Given the description of an element on the screen output the (x, y) to click on. 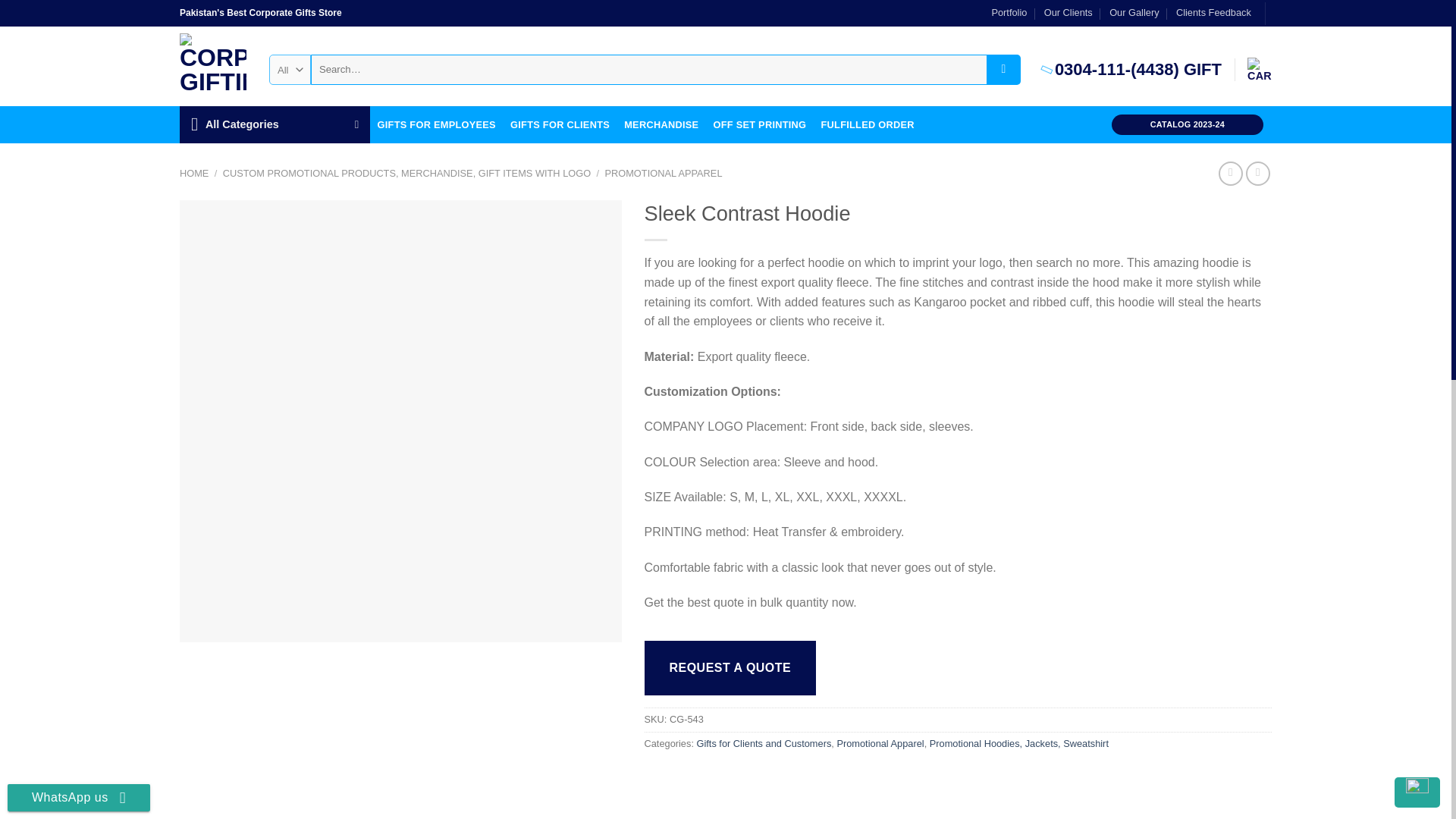
Search (1003, 69)
HOME (193, 173)
OFF SET PRINTING (759, 124)
GIFTS FOR CLIENTS (560, 124)
Our Clients (1068, 12)
GIFTS FOR EMPLOYEES (436, 124)
PROMOTIONAL APPAREL (663, 173)
CATALOG 2023-24 (1187, 124)
